Given the description of an element on the screen output the (x, y) to click on. 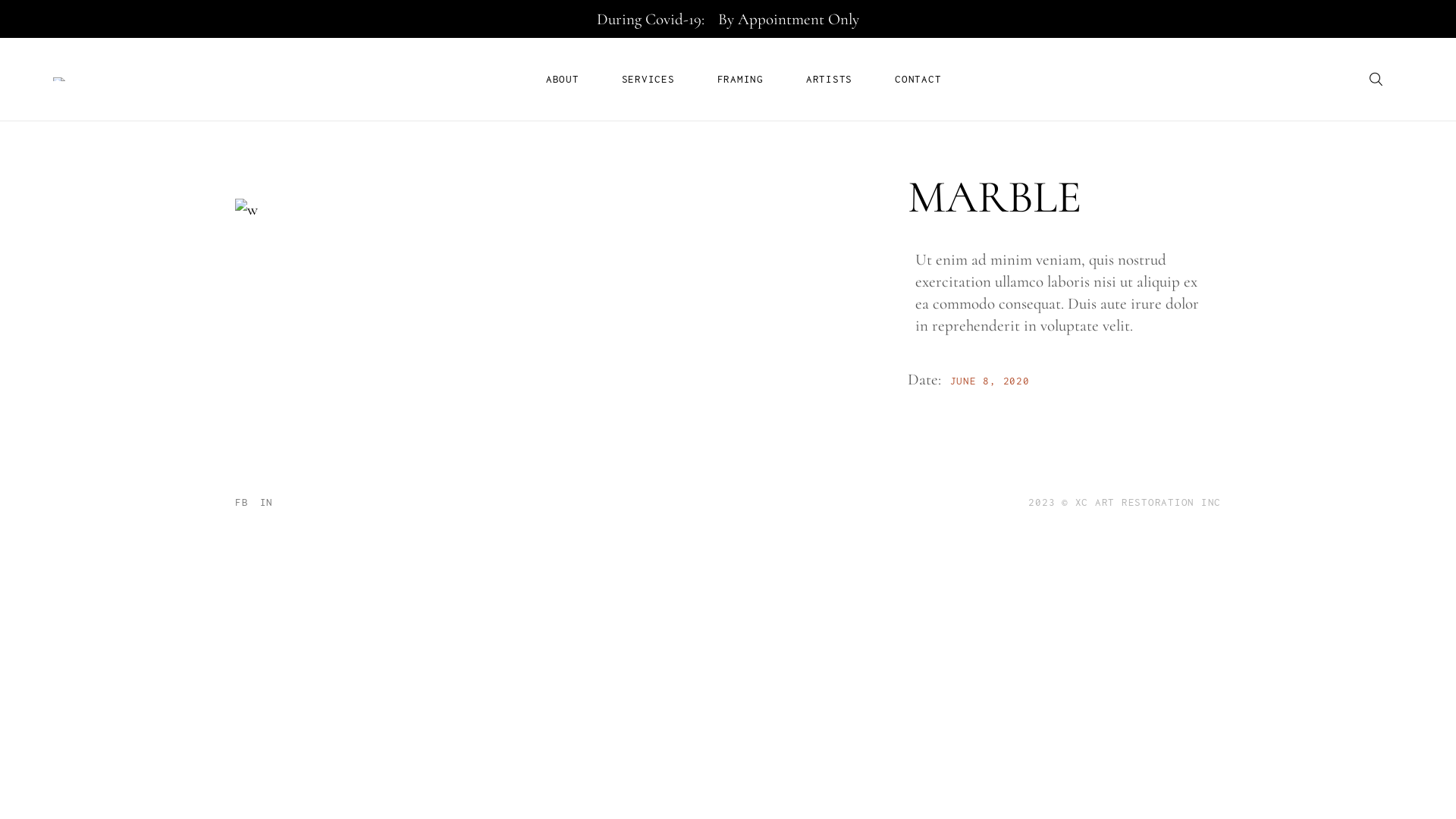
CONTACT Element type: text (917, 78)
FRAMING Element type: text (740, 78)
FB Element type: text (241, 501)
port-gallery-7 Element type: hover (534, 208)
ABOUT Element type: text (562, 78)
ARTISTS Element type: text (829, 78)
IN Element type: text (266, 501)
SERVICES Element type: text (647, 78)
